Given the description of an element on the screen output the (x, y) to click on. 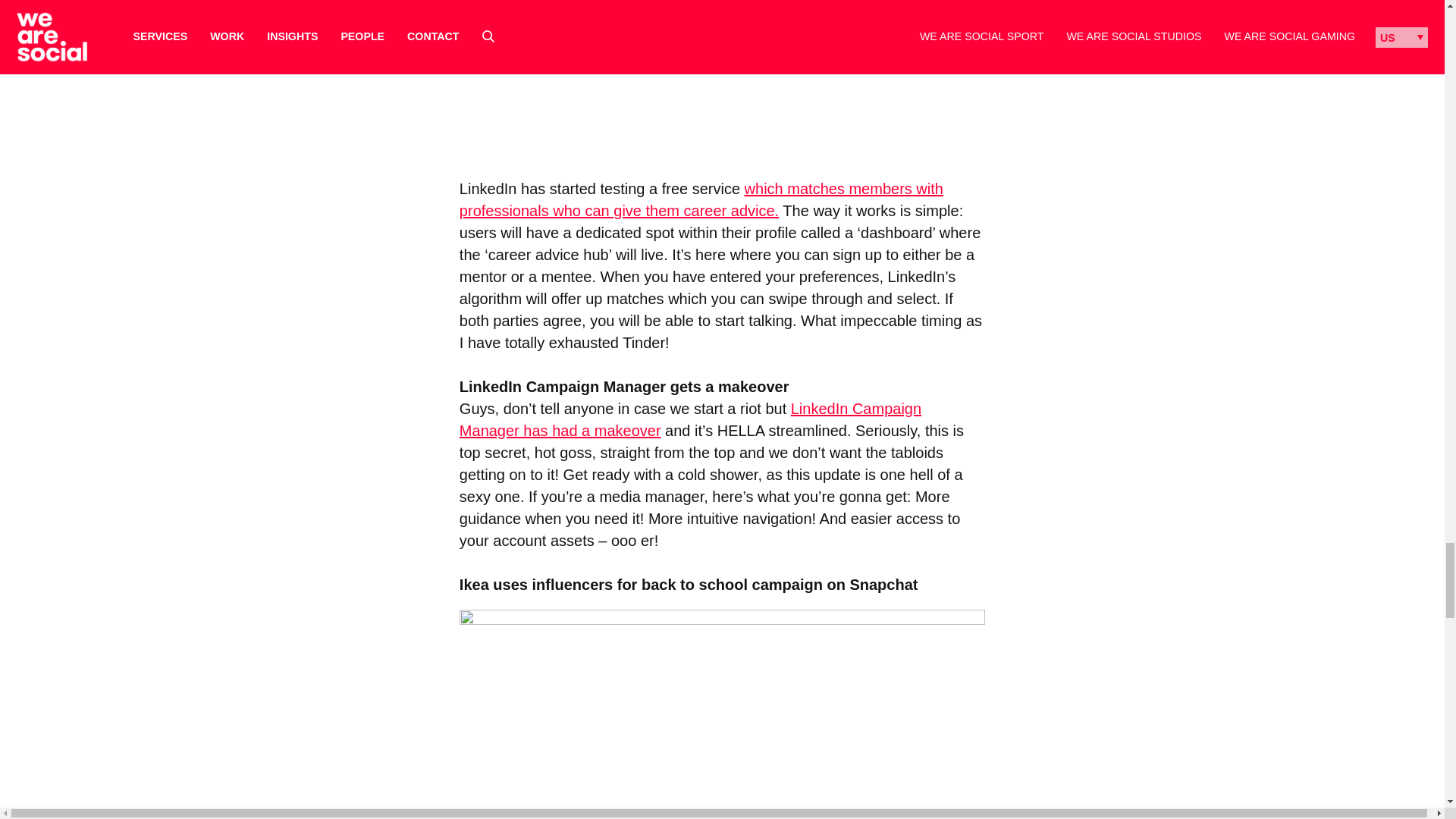
LinkedIn Campaign Manager has had a makeover (690, 419)
